Given the description of an element on the screen output the (x, y) to click on. 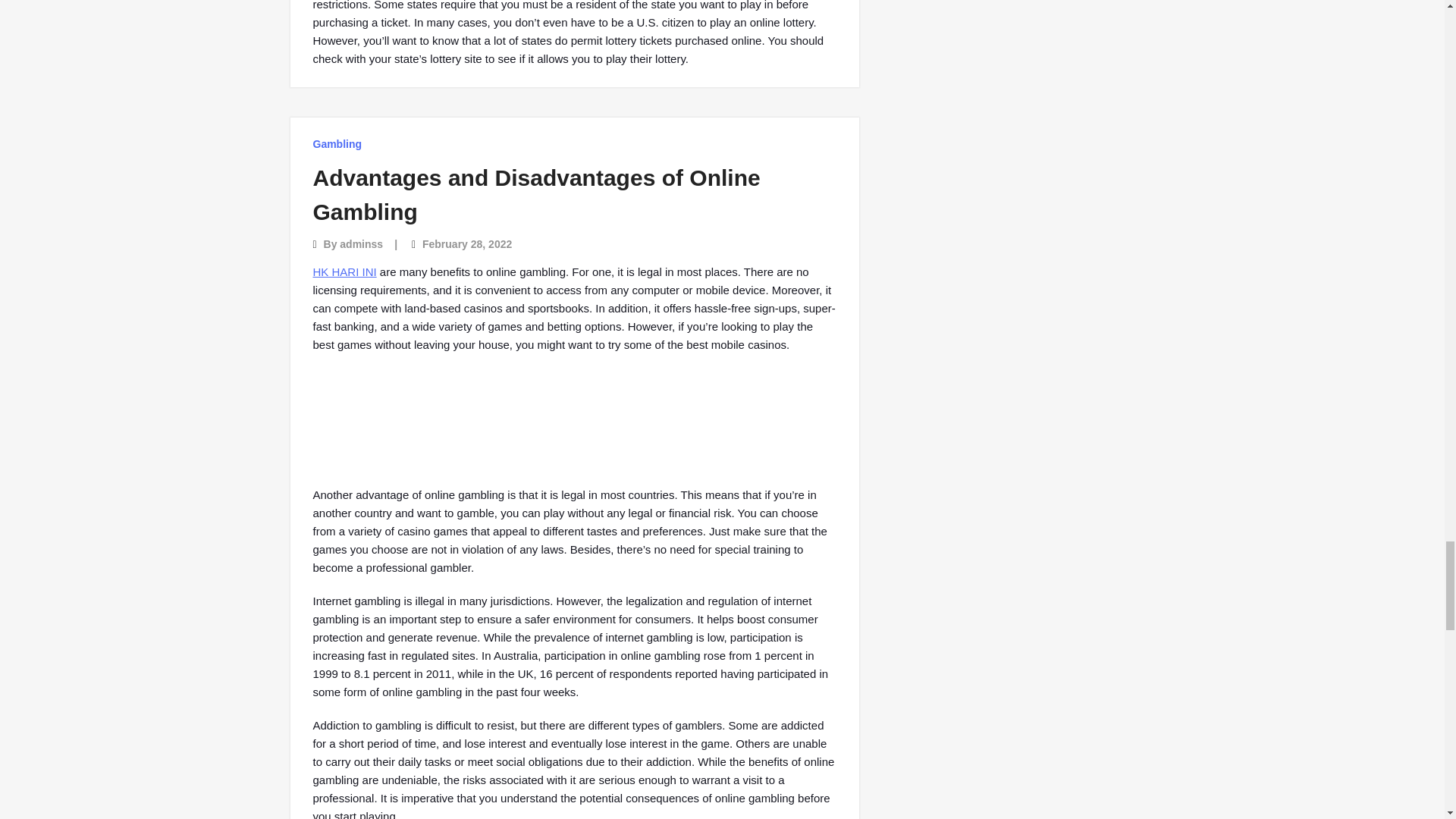
HK HARI INI (344, 271)
Advantages and Disadvantages of Online Gambling (536, 194)
Gambling (337, 143)
February 28, 2022 (467, 244)
adminss (360, 244)
